Given the description of an element on the screen output the (x, y) to click on. 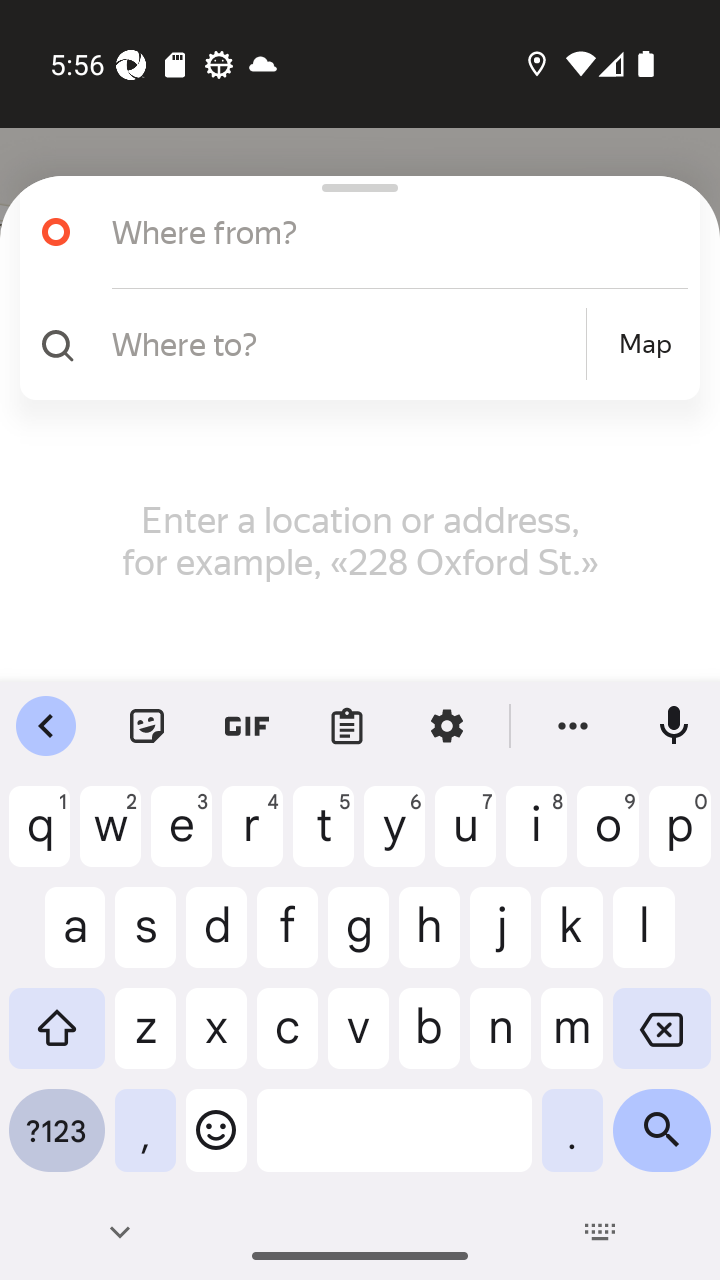
Where from? (352, 232)
Where from? (373, 232)
Where to? Map Map (352, 343)
Map (645, 343)
Where to? (346, 343)
